Given the description of an element on the screen output the (x, y) to click on. 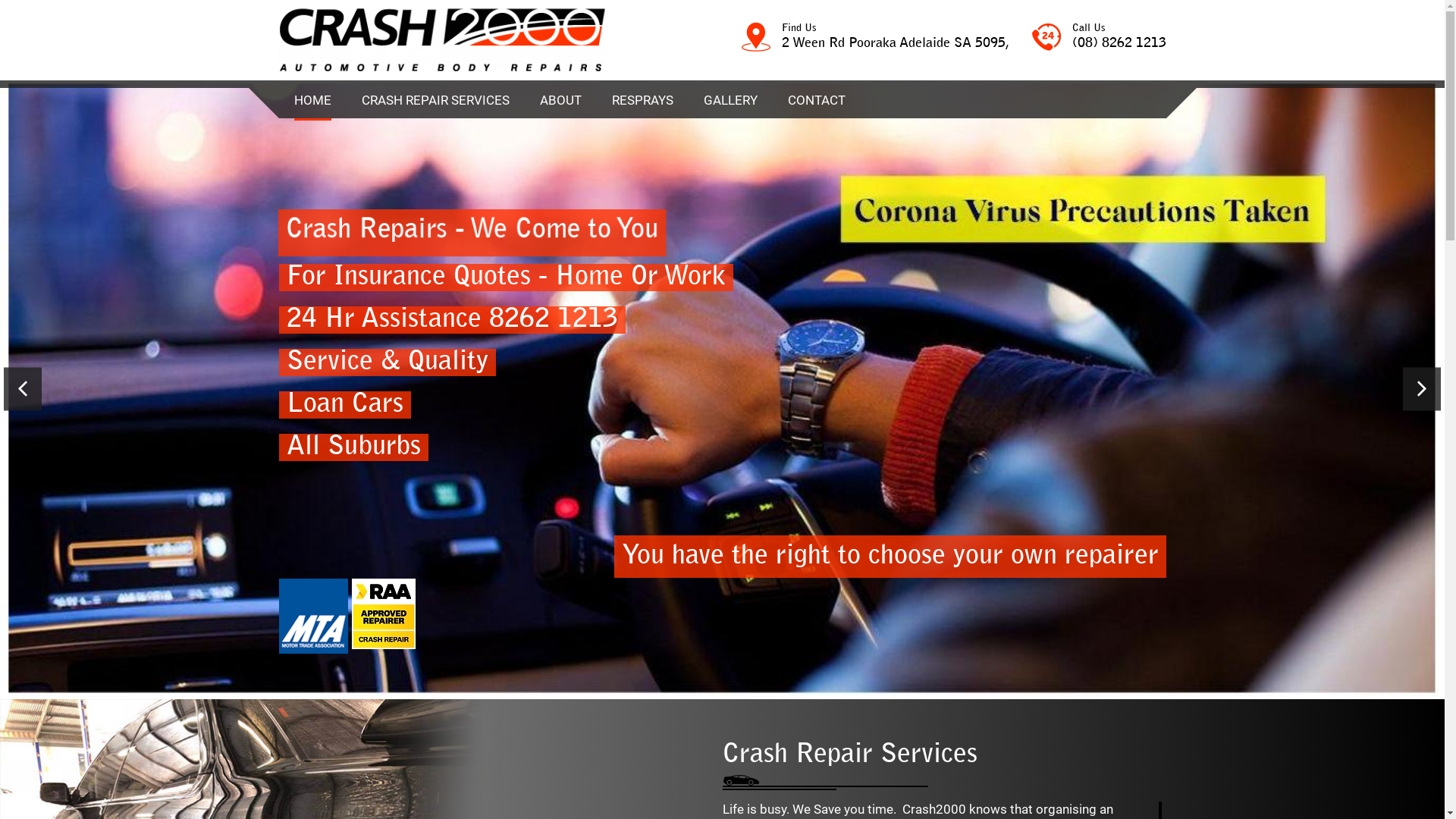
RESPRAYS Element type: text (641, 99)
CONTACT Element type: text (815, 99)
HOME Element type: text (312, 100)
Find Us
2 Ween Rd Pooraka Adelaide SA 5095, Element type: text (875, 37)
Call Us
(08) 8262 1213 Element type: text (1098, 37)
CRASH REPAIR SERVICES Element type: text (434, 99)
GALLERY Element type: text (730, 99)
ABOUT Element type: text (560, 99)
